Given the description of an element on the screen output the (x, y) to click on. 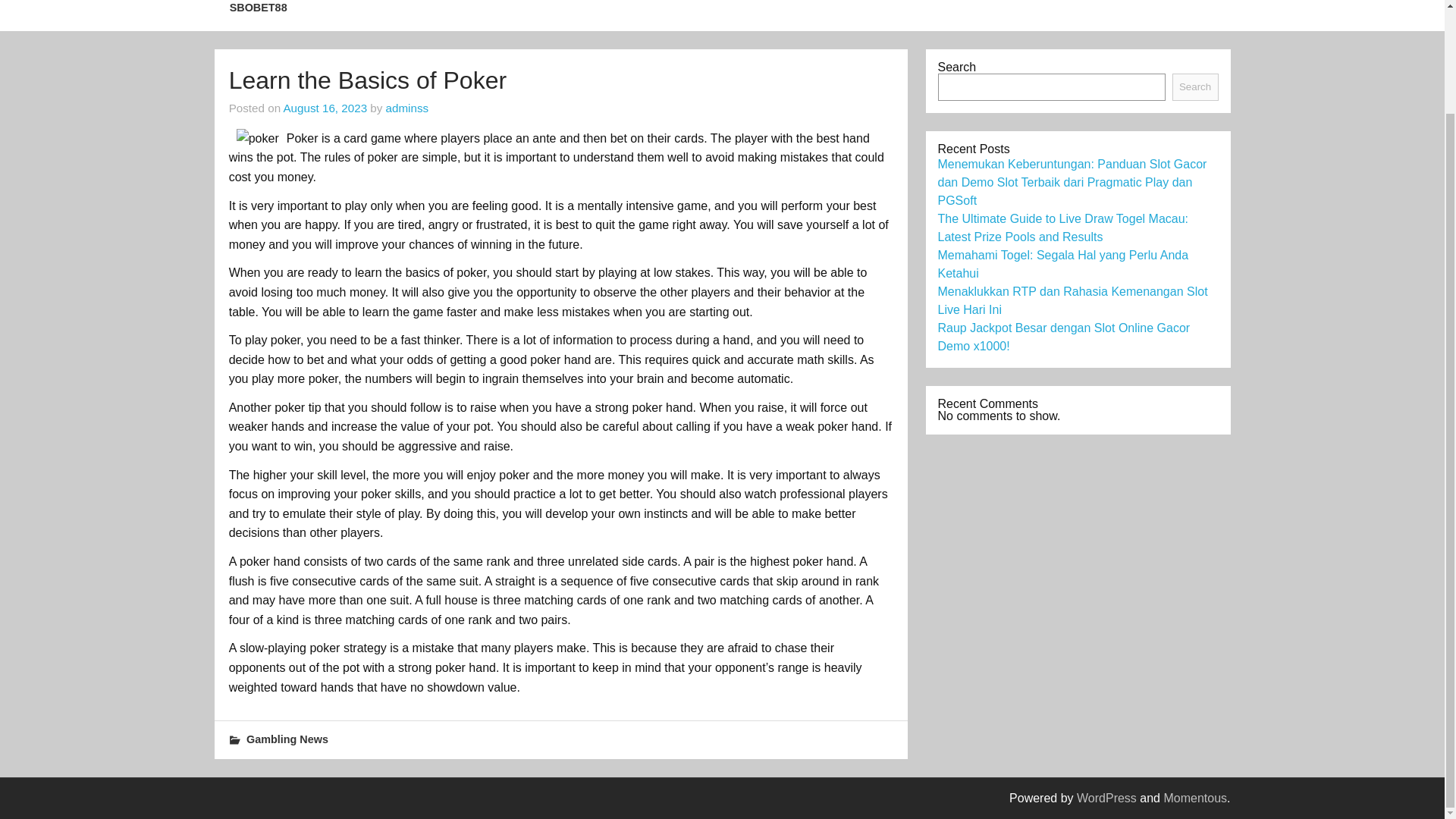
Memahami Togel: Segala Hal yang Perlu Anda Ketahui (1062, 264)
WordPress (1107, 797)
adminss (407, 107)
Menaklukkan RTP dan Rahasia Kemenangan Slot Live Hari Ini (1072, 300)
Gambling News (287, 739)
Search (1195, 86)
WordPress (1107, 797)
August 16, 2023 (324, 107)
View all posts by adminss (407, 107)
Momentous WordPress Theme (1195, 797)
12:25 pm (324, 107)
Raup Jackpot Besar dengan Slot Online Gacor Demo x1000! (1063, 336)
Momentous (1195, 797)
